Given the description of an element on the screen output the (x, y) to click on. 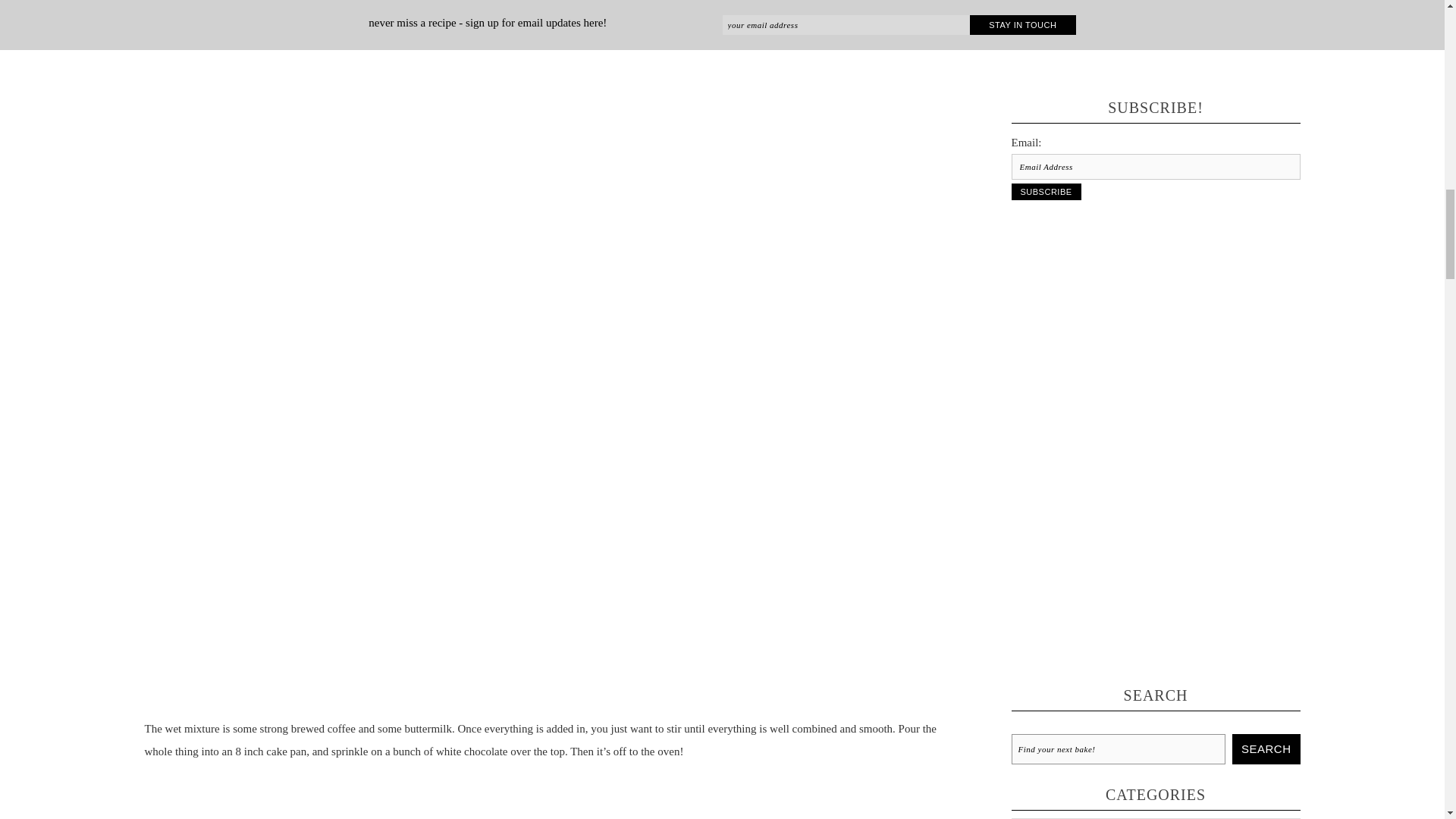
Subscribe (1046, 191)
